Given the description of an element on the screen output the (x, y) to click on. 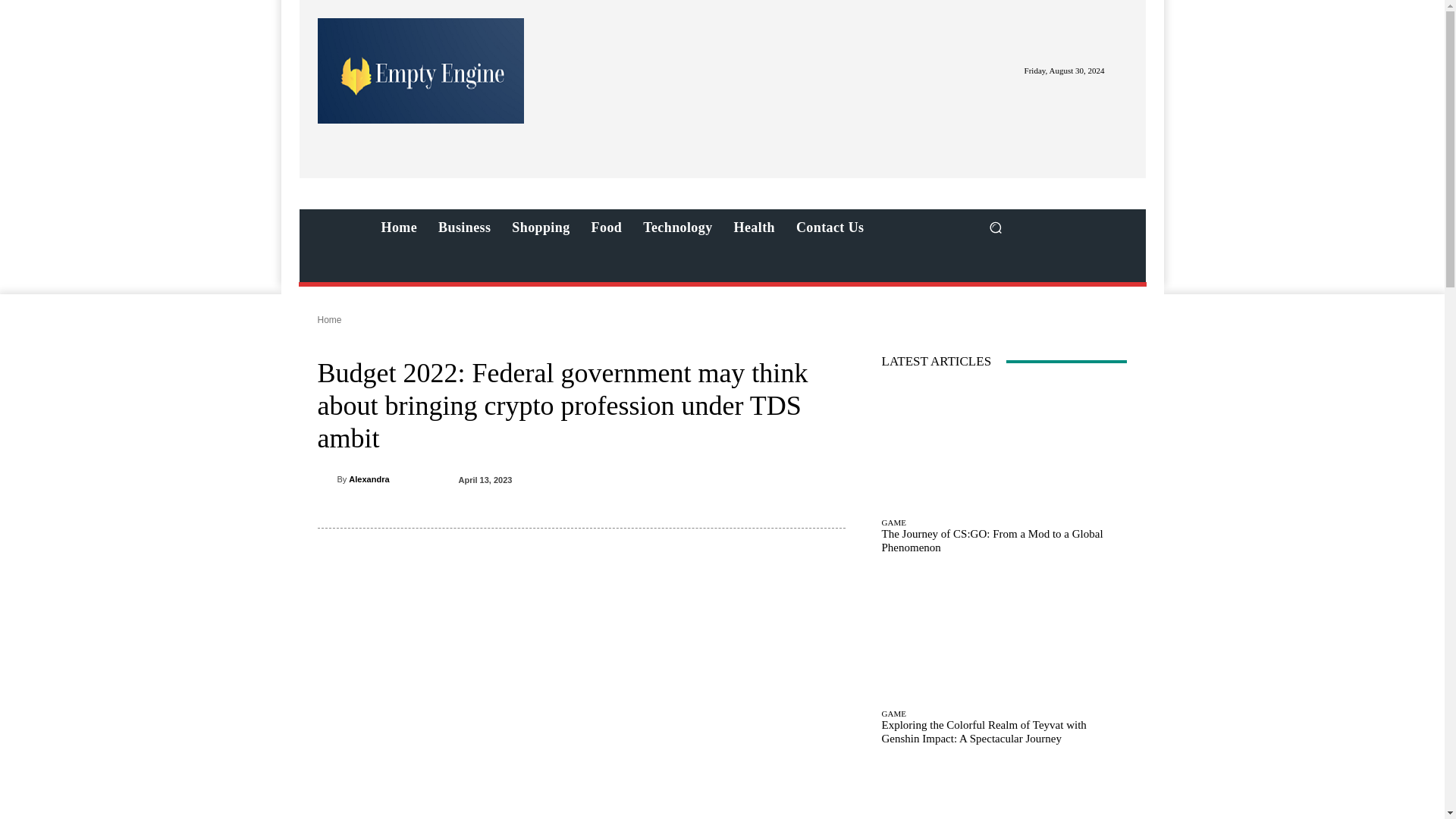
Alexandra (368, 478)
Business (464, 227)
The Journey of CS:GO: From a Mod to a Global Phenomenon (991, 540)
Home (328, 319)
The Journey of CS:GO: From a Mod to a Global Phenomenon (991, 540)
Home (398, 227)
Shopping (539, 227)
Food (606, 227)
The Journey of CS:GO: From a Mod to a Global Phenomenon (1003, 446)
